Given the description of an element on the screen output the (x, y) to click on. 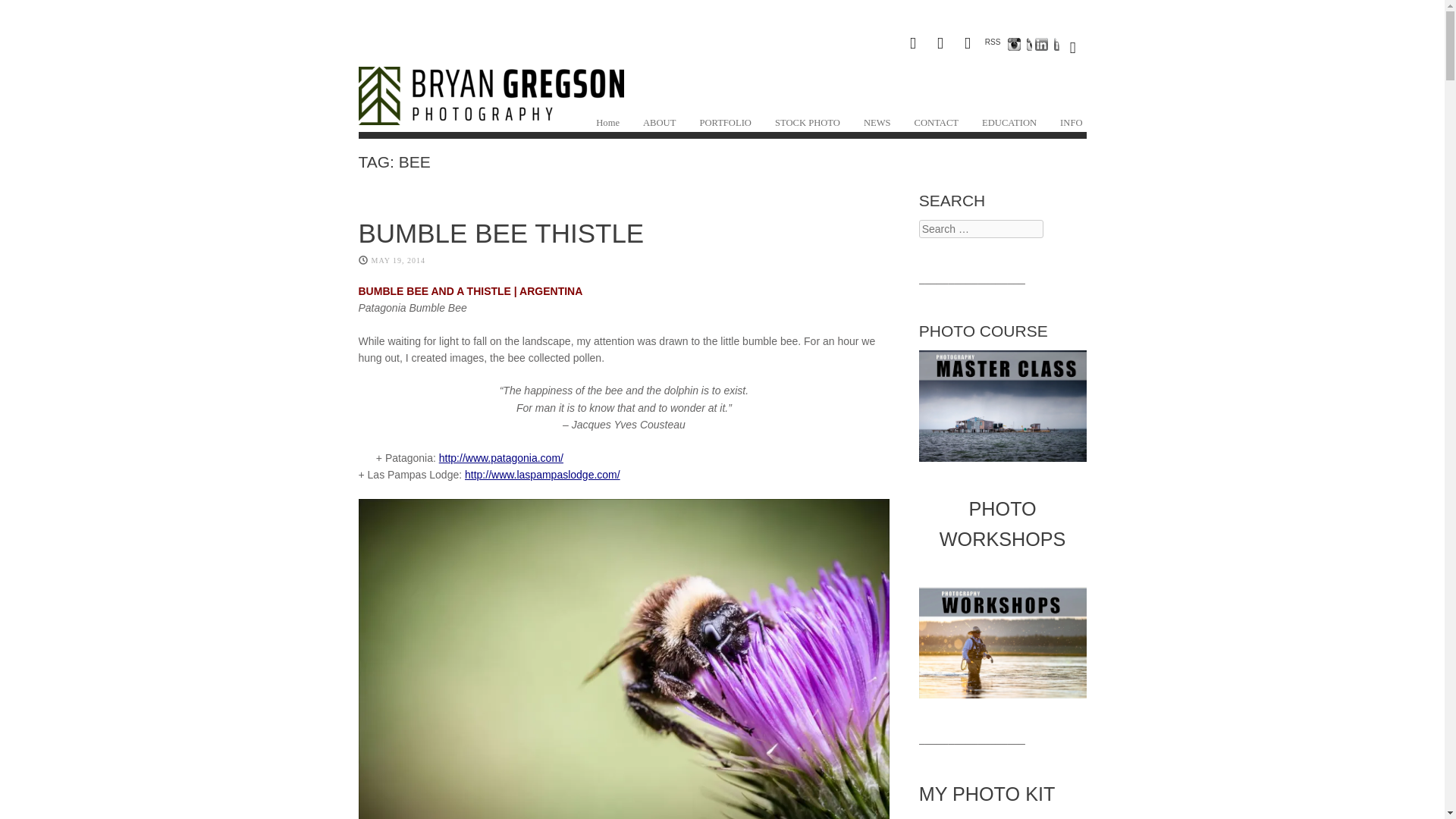
ABOUT (659, 124)
STOCK PHOTO (807, 124)
PORTFOLIO (725, 124)
Skip to content (611, 121)
RSS (992, 44)
Bryan Gregson Photography (490, 110)
MAY 19, 2014 (398, 260)
Permalink to BUMBLE BEE THISTLE (500, 233)
CONTACT (936, 124)
INSTAGRAM (1017, 47)
TWITTER (967, 47)
NEWS (877, 124)
8:00 am (398, 260)
BUMBLE BEE THISTLE (500, 233)
LINKEDIN (1044, 47)
